Given the description of an element on the screen output the (x, y) to click on. 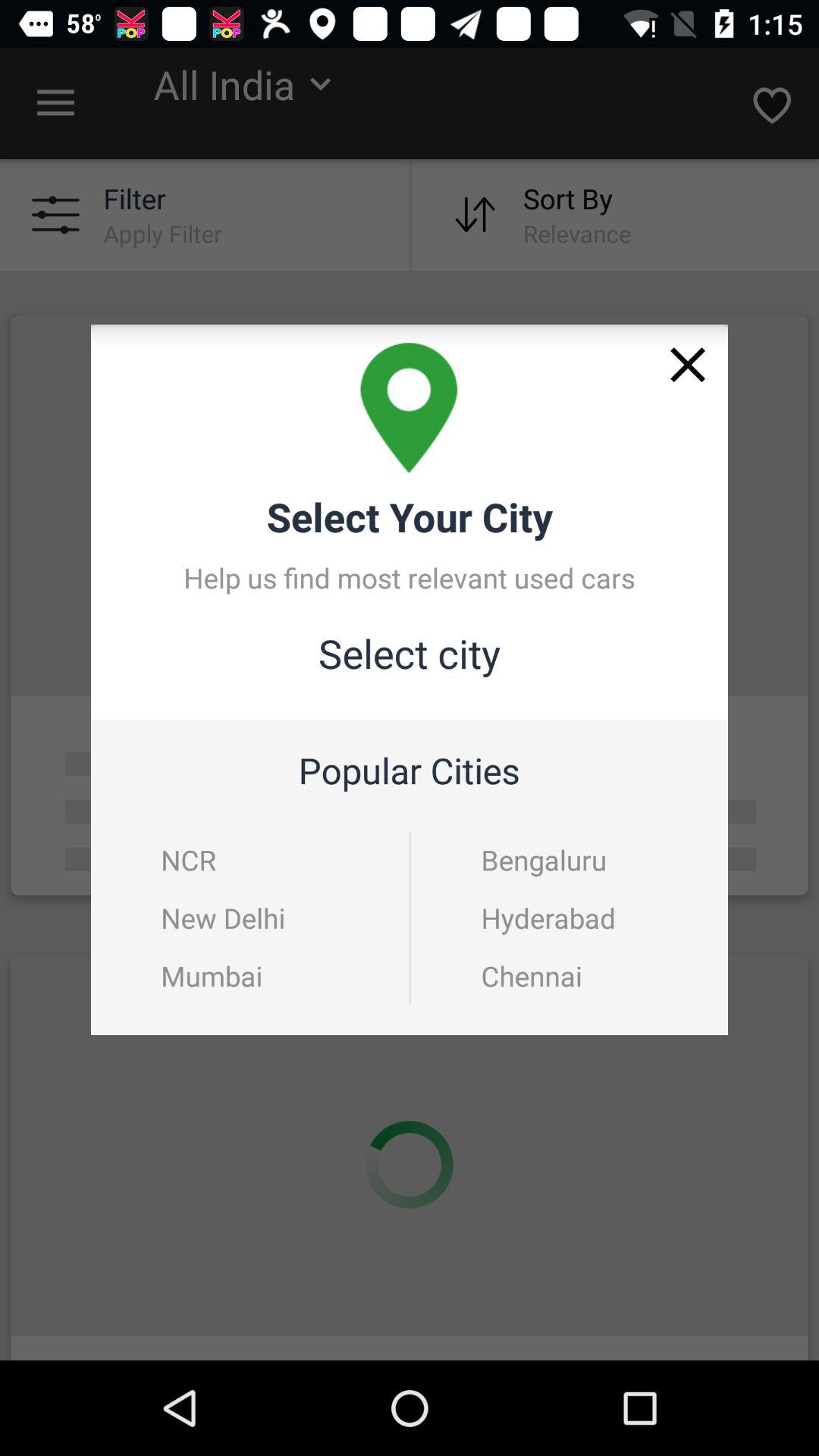
turn off the item above the chennai icon (569, 917)
